Given the description of an element on the screen output the (x, y) to click on. 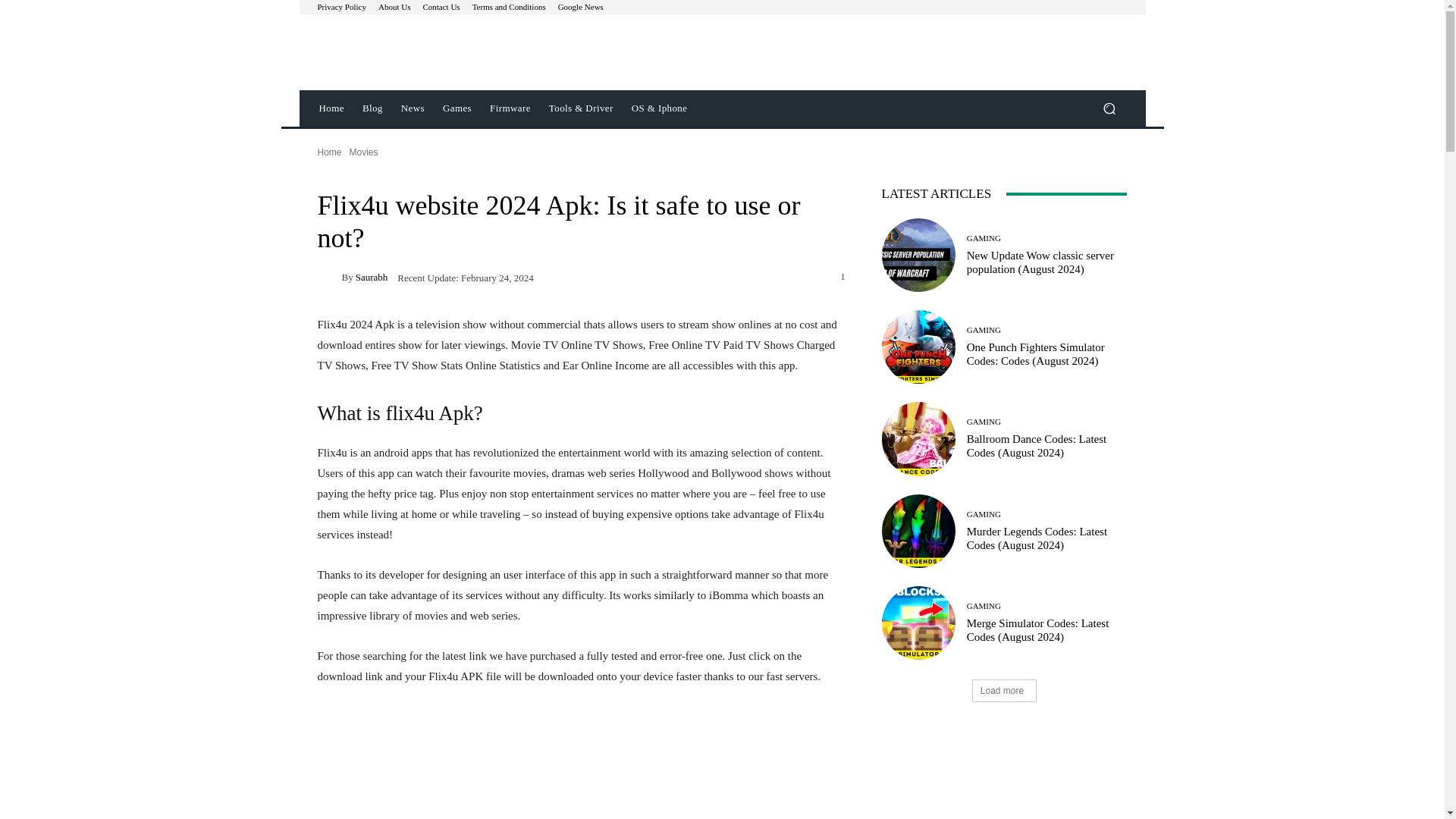
Movies (363, 152)
News (412, 108)
Privacy Policy (341, 7)
Google News (580, 7)
Home (330, 108)
Firmware (510, 108)
Home (328, 152)
Saurabh (328, 276)
Games (456, 108)
Blog (372, 108)
About Us (394, 7)
Terms and Conditions (508, 7)
Contact Us (441, 7)
View all posts in Movies (363, 152)
Saurabh (371, 276)
